Given the description of an element on the screen output the (x, y) to click on. 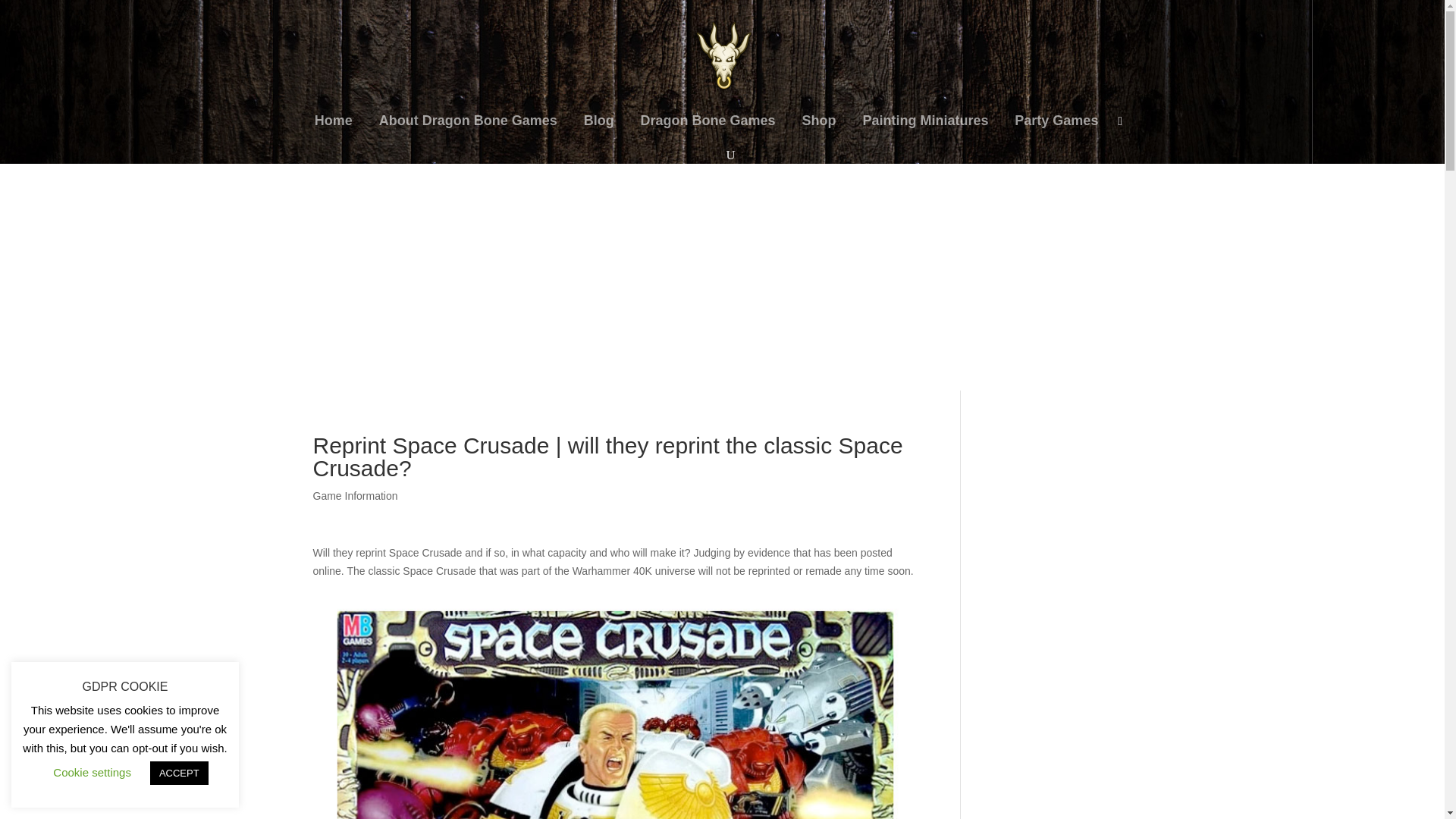
Cookie settings (91, 771)
Painting Miniatures (924, 130)
Dragon Bone Games (708, 130)
Home (333, 130)
Shop (818, 130)
Blog (598, 130)
About Dragon Bone Games (467, 130)
Game Information (355, 495)
Party Games (1055, 130)
ACCEPT (178, 772)
